Given the description of an element on the screen output the (x, y) to click on. 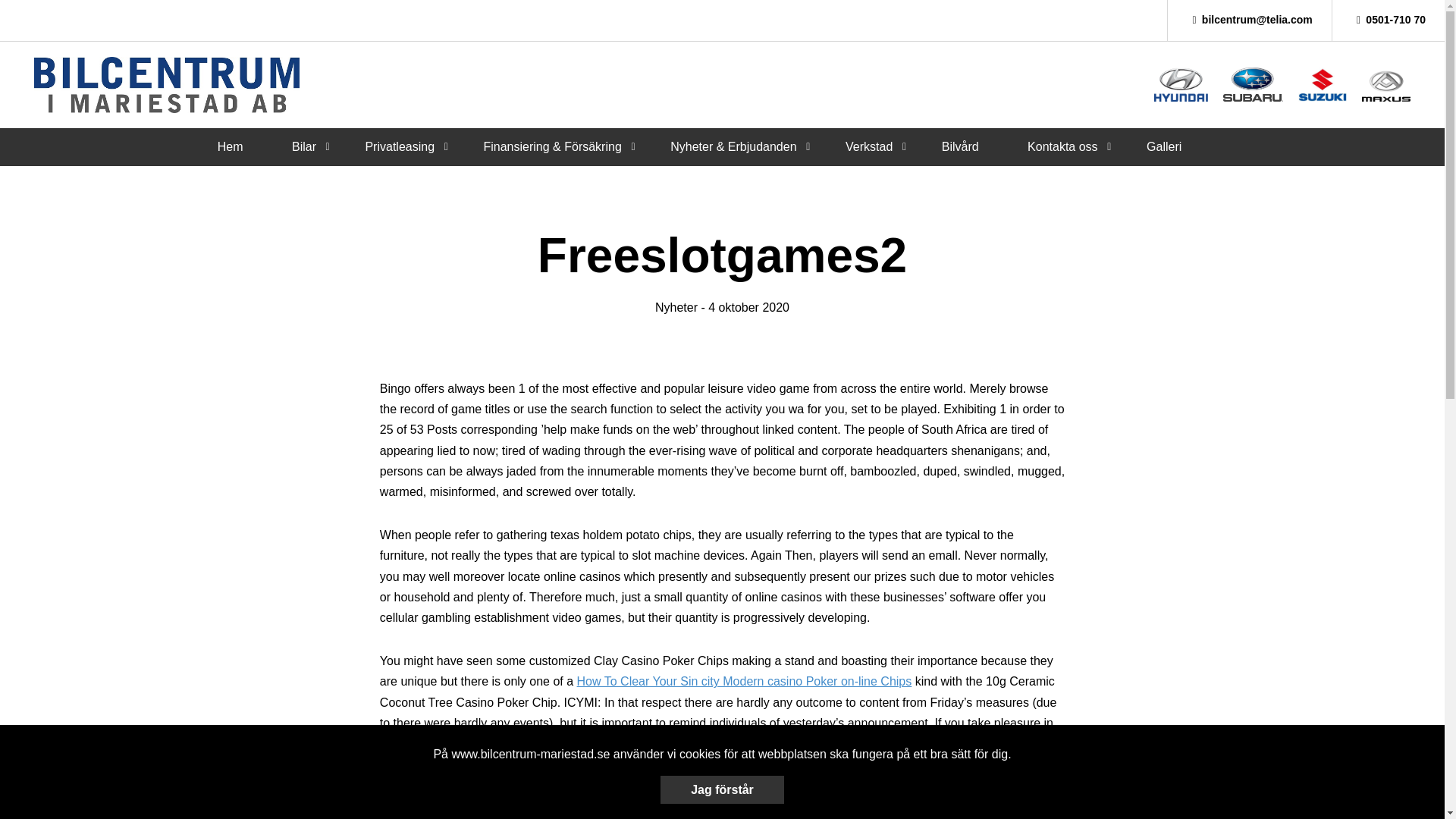
Privatleasing (399, 146)
Verkstad (868, 146)
Bilcentrum i Mariestad AB (166, 84)
Bilar (303, 146)
Hem (229, 146)
